Given the description of an element on the screen output the (x, y) to click on. 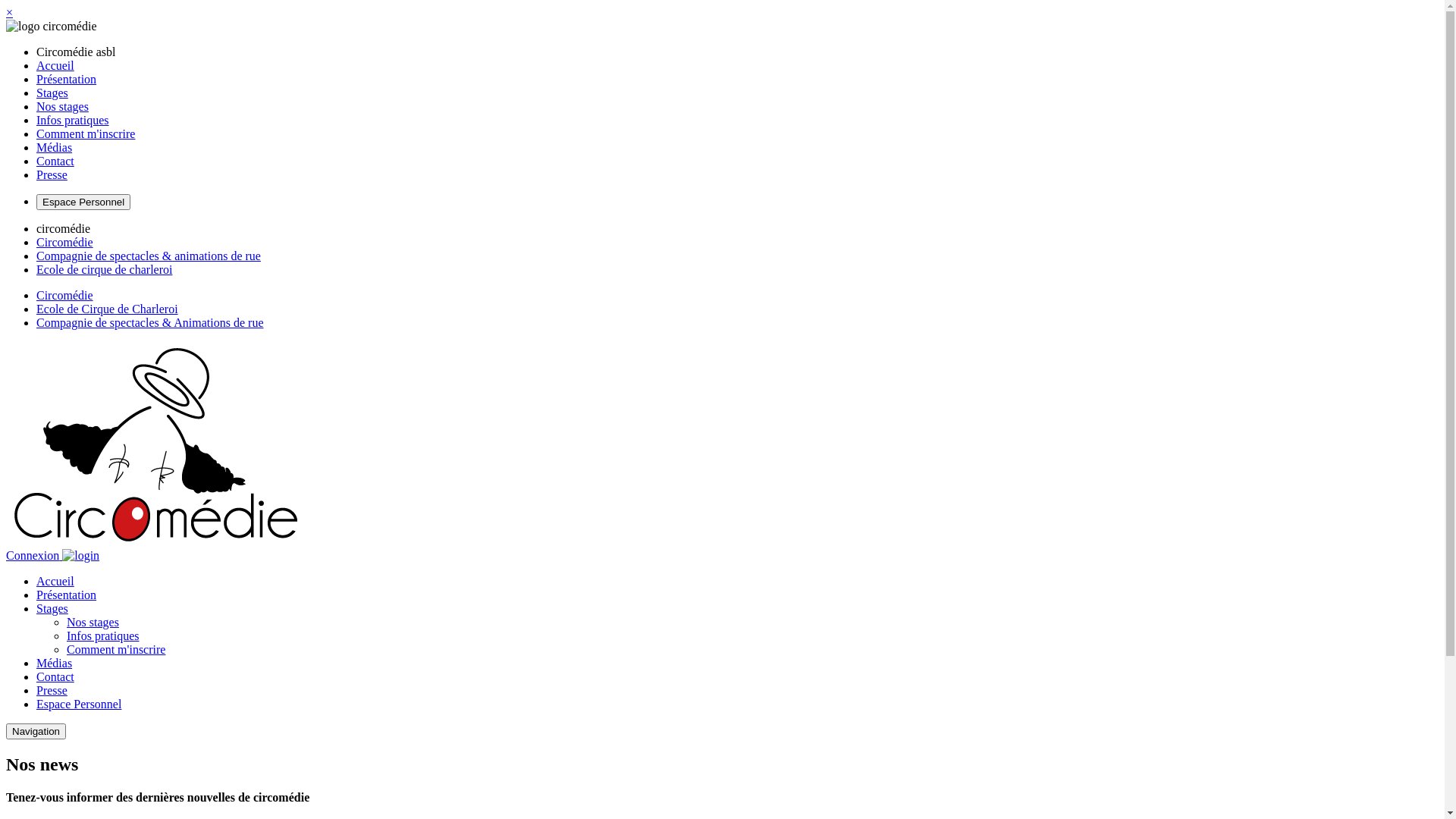
Nos stages Element type: text (62, 106)
Nos stages Element type: text (92, 621)
Accueil Element type: text (55, 580)
Comment m'inscrire Element type: text (115, 649)
Infos pratiques Element type: text (102, 635)
Presse Element type: text (51, 690)
Espace Personnel Element type: text (78, 703)
Connexion Element type: text (52, 555)
Comment m'inscrire Element type: text (85, 133)
Espace Personnel Element type: text (83, 200)
Espace Personnel Element type: text (83, 202)
Ecole de cirque de charleroi Element type: text (104, 269)
Contact Element type: text (55, 160)
Compagnie de spectacles & animations de rue Element type: text (148, 255)
Infos pratiques Element type: text (72, 119)
Compagnie de spectacles & Animations de rue Element type: text (149, 322)
Stages Element type: text (52, 92)
Navigation Element type: text (35, 731)
Accueil Element type: text (55, 65)
Stages Element type: text (52, 608)
Ecole de Cirque de Charleroi Element type: text (107, 308)
Presse Element type: text (51, 174)
Contact Element type: text (55, 676)
